Given the description of an element on the screen output the (x, y) to click on. 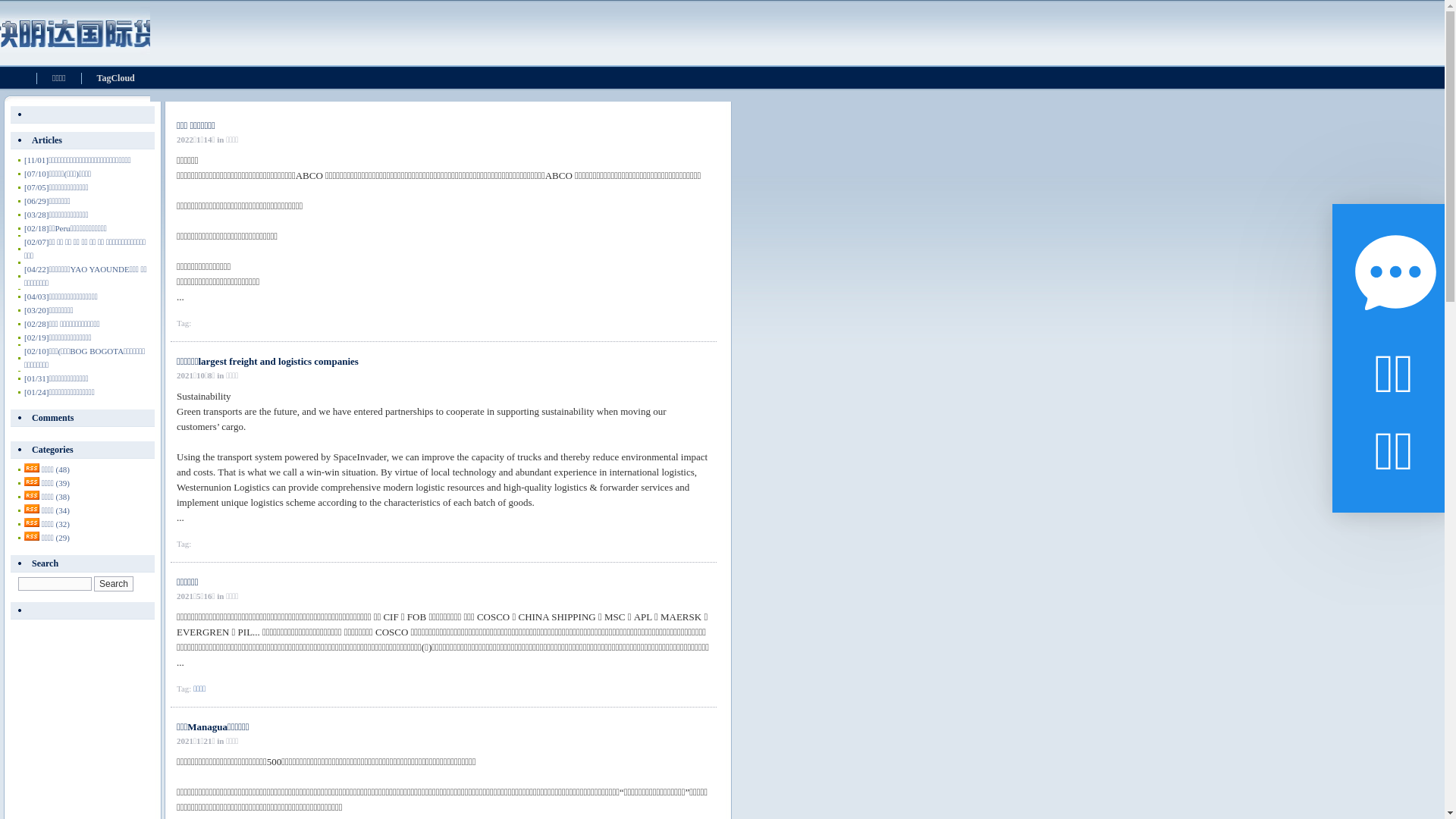
rss Element type: hover (31, 481)
rss Element type: hover (31, 522)
Search Element type: text (113, 583)
  Element type: text (82, 611)
rss Element type: hover (31, 535)
TagCloud Element type: text (115, 78)
rss Element type: hover (31, 494)
rss Element type: hover (31, 467)
rss Element type: hover (31, 508)
